Given the description of an element on the screen output the (x, y) to click on. 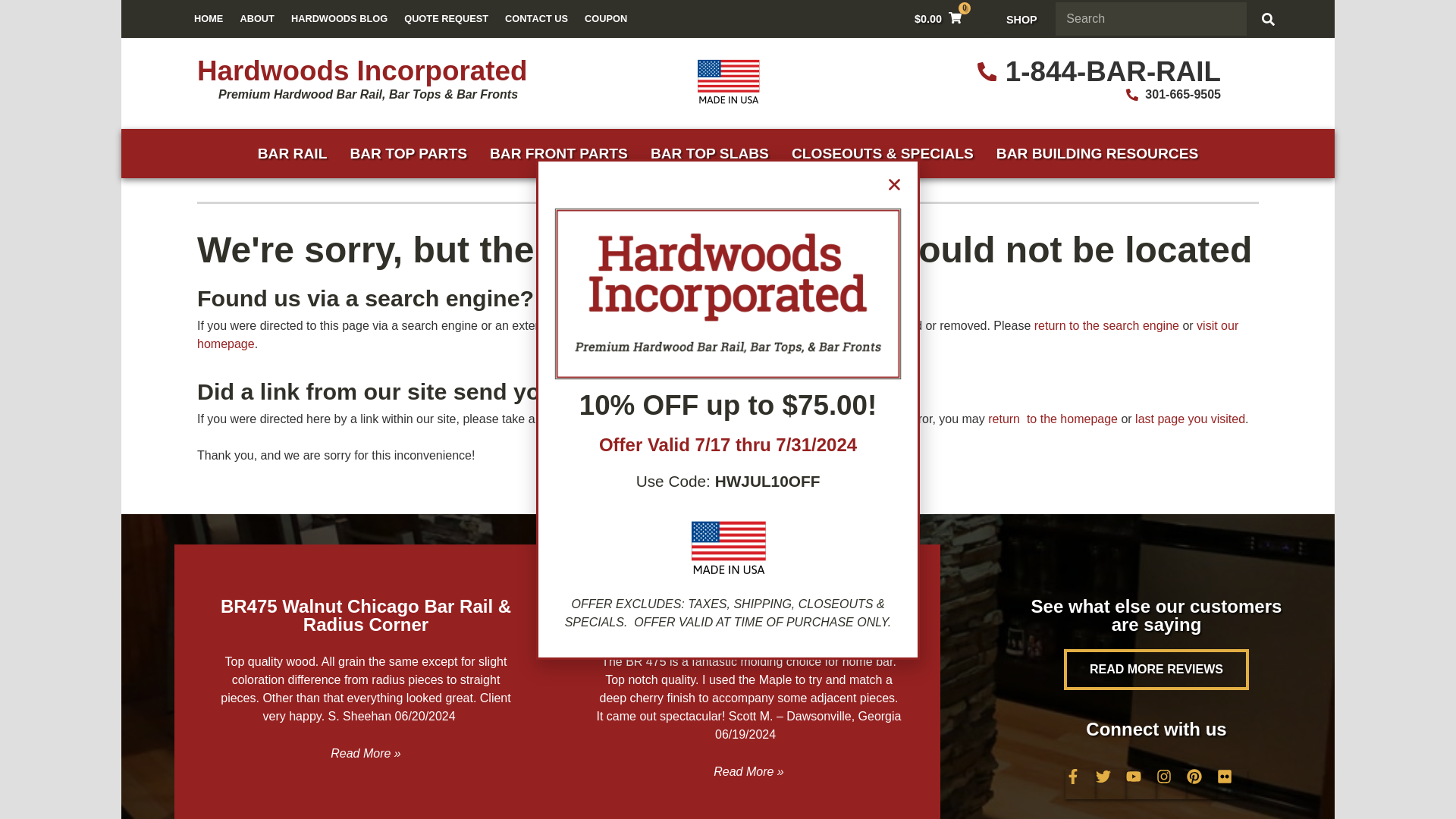
SHOP (1021, 19)
BAR FRONT PARTS (559, 153)
HOME (208, 18)
return to the search engine (1106, 325)
How To Build a Bar  (1097, 153)
BAR BUILDING RESOURCES (1097, 153)
visit our homepage (717, 334)
COUPON (605, 18)
Online Quote Request Form (446, 18)
BAR TOP PARTS (408, 153)
Hardwoods Incorporated (361, 70)
HARDWOODS BLOG (339, 18)
CONTACT US (536, 18)
About our Bar Building Produts (256, 18)
return  to the homepage (1053, 418)
